Given the description of an element on the screen output the (x, y) to click on. 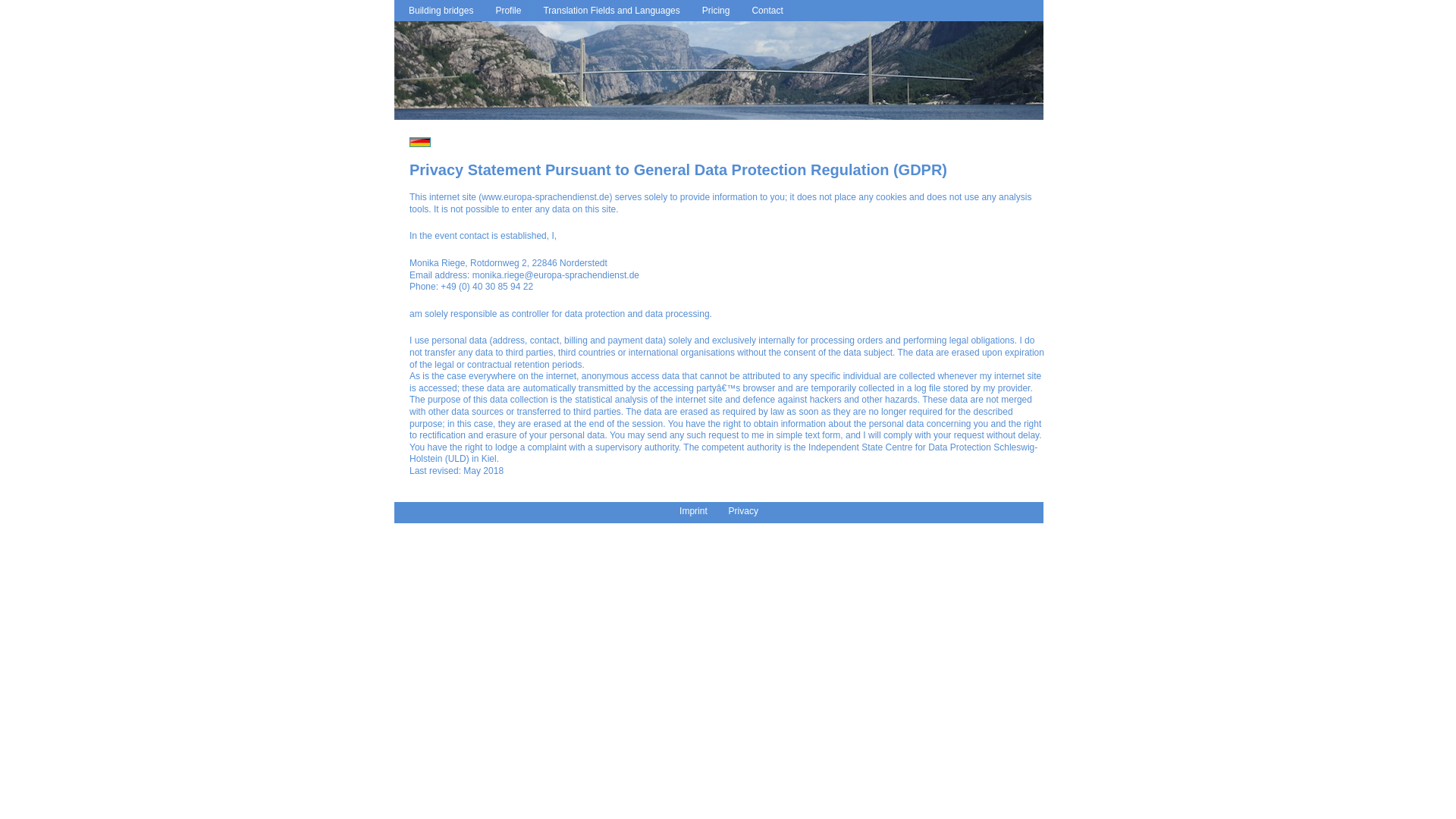
Pricing (712, 10)
Contact (763, 10)
Building bridges (437, 10)
Privacy (743, 511)
Translation Fields and Languages (607, 10)
Profile (504, 10)
Imprint (693, 511)
